Given the description of an element on the screen output the (x, y) to click on. 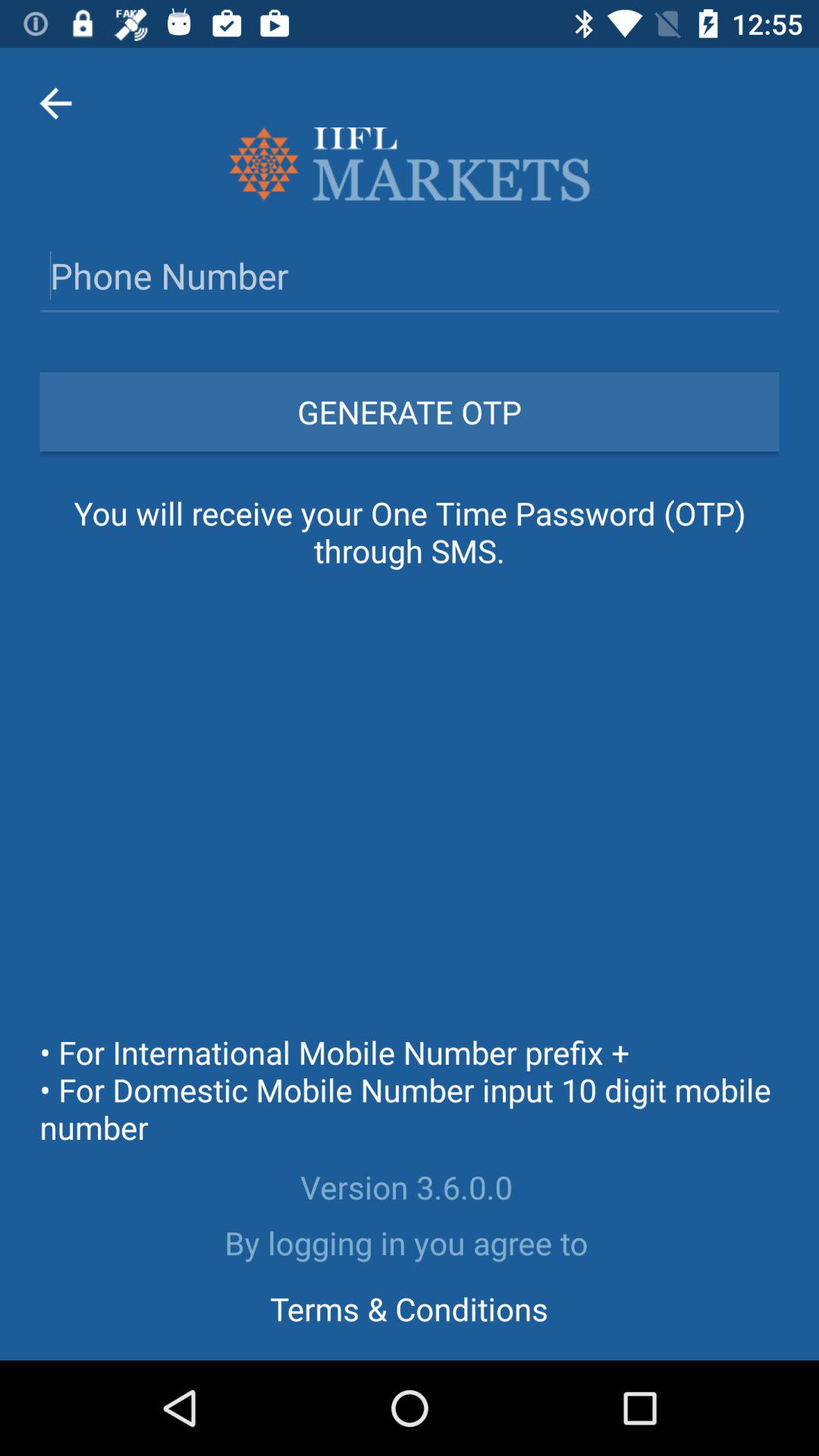
swipe until the generate otp icon (409, 411)
